Given the description of an element on the screen output the (x, y) to click on. 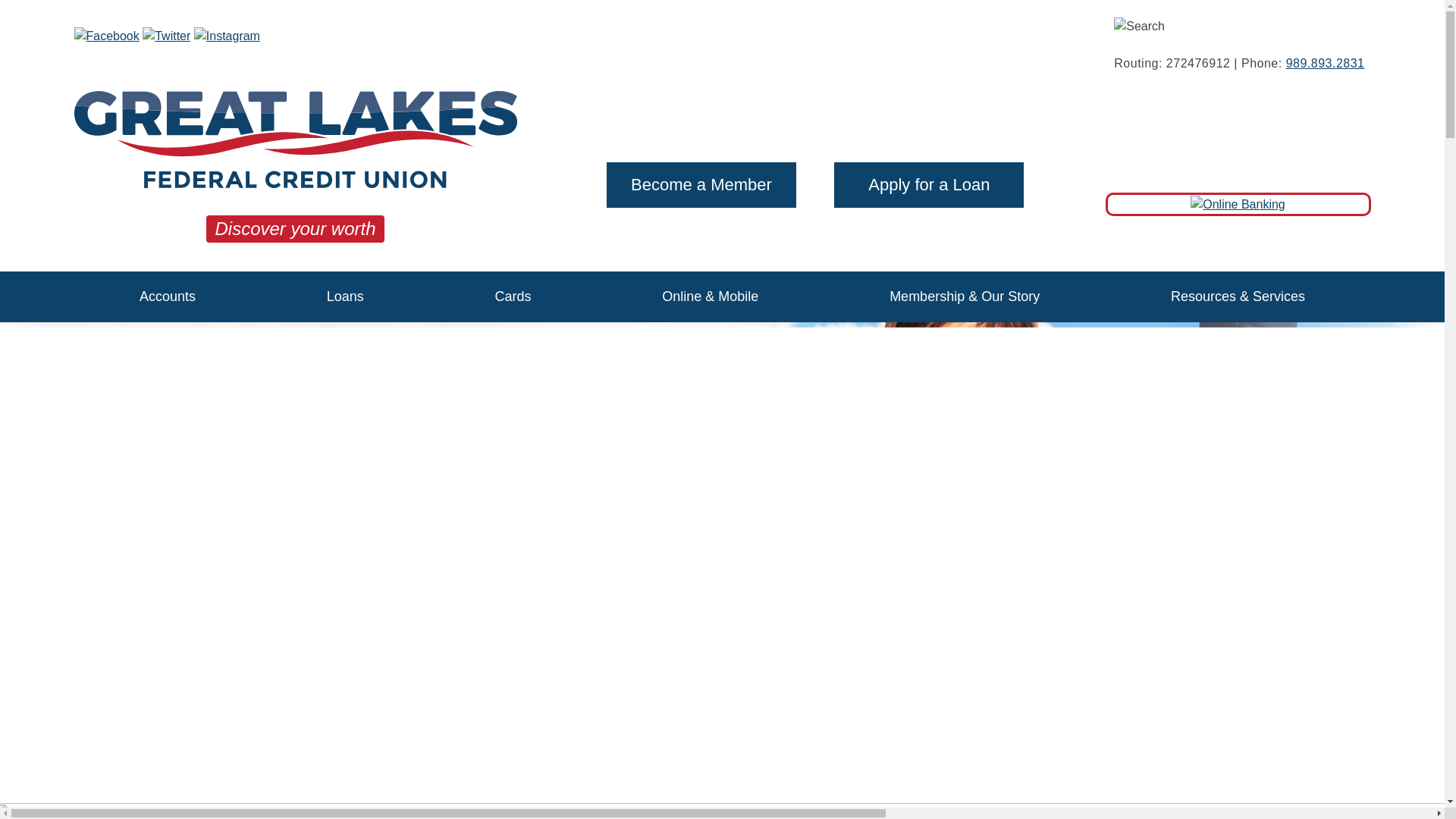
Loans (344, 296)
989.893.2831 (1325, 63)
Apply for a Loan (928, 185)
Accounts (167, 296)
Cards (513, 296)
Become a Member (701, 185)
